Given the description of an element on the screen output the (x, y) to click on. 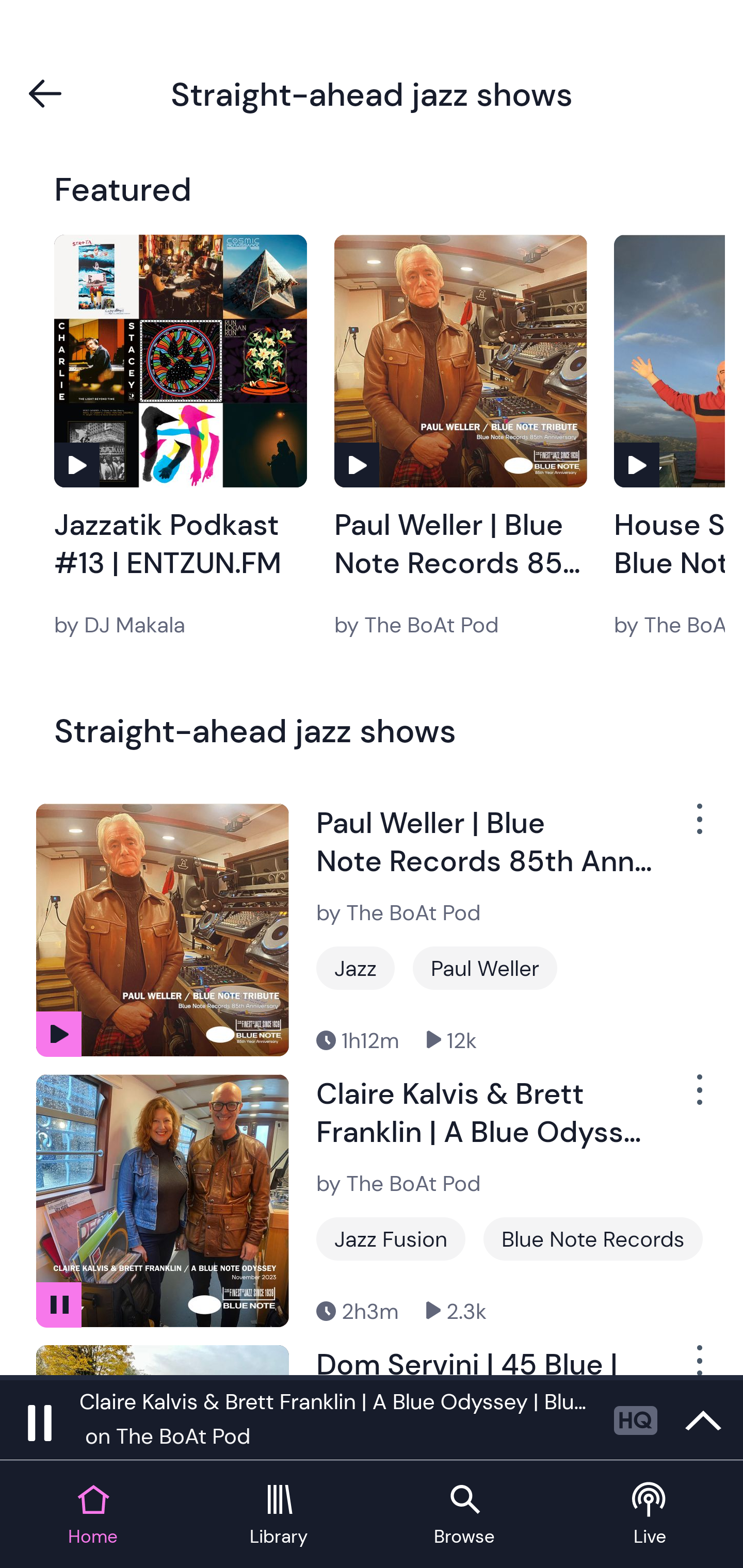
Show Options Menu Button (697, 825)
Jazz (355, 968)
Paul Weller (485, 968)
Show Options Menu Button (697, 1097)
Jazz Fusion (390, 1238)
Blue Note Records (592, 1238)
Show Options Menu Button (697, 1360)
Home tab Home (92, 1515)
Library tab Library (278, 1515)
Browse tab Browse (464, 1515)
Live tab Live (650, 1515)
